Given the description of an element on the screen output the (x, y) to click on. 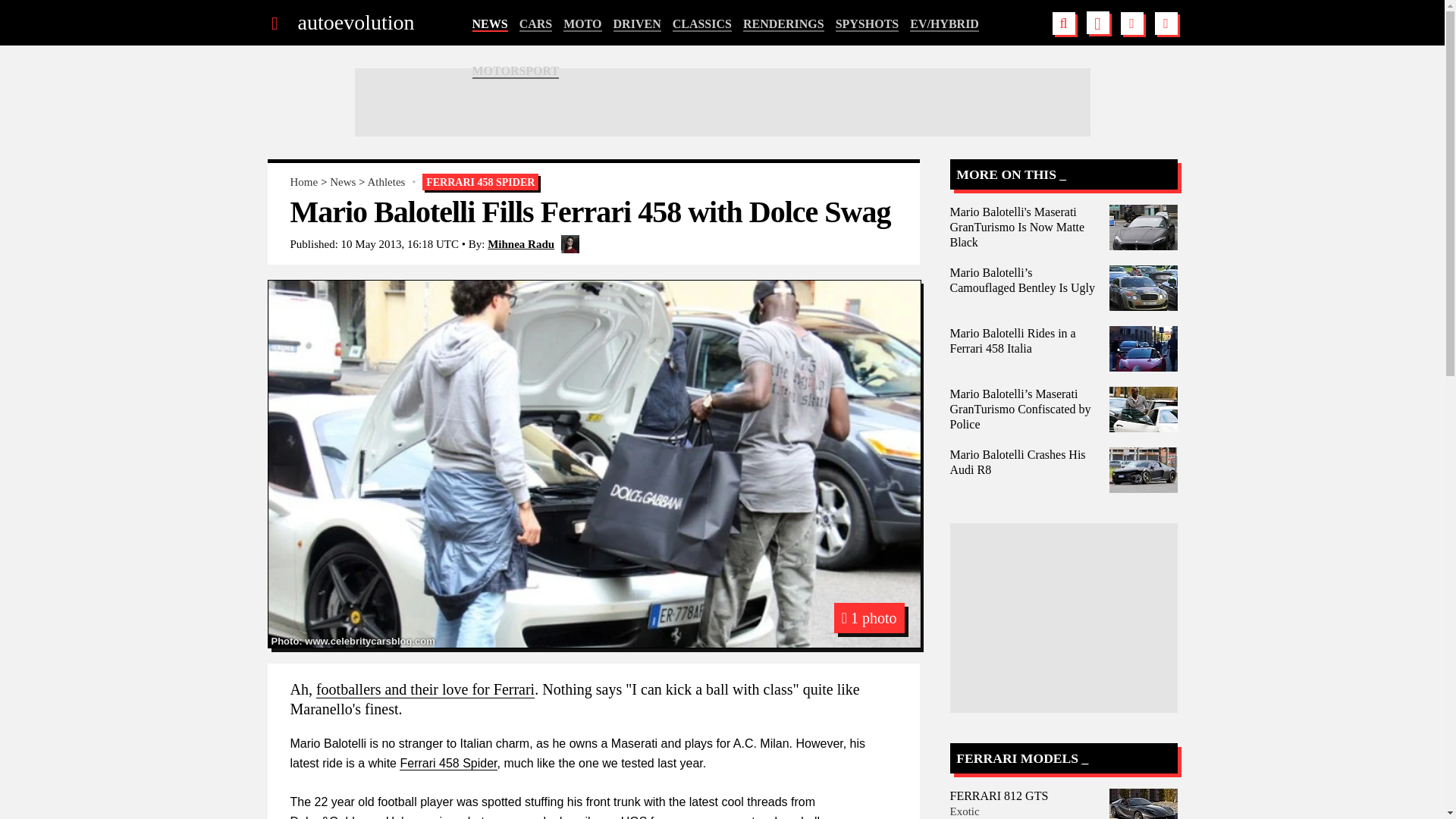
CARS (536, 24)
autoevolution (355, 22)
Home (303, 182)
MOTORSPORT (515, 71)
Athletes (385, 182)
SPYSHOTS (867, 24)
News (342, 182)
DRIVEN (636, 24)
NEWS (488, 24)
autoevolution (355, 22)
